Given the description of an element on the screen output the (x, y) to click on. 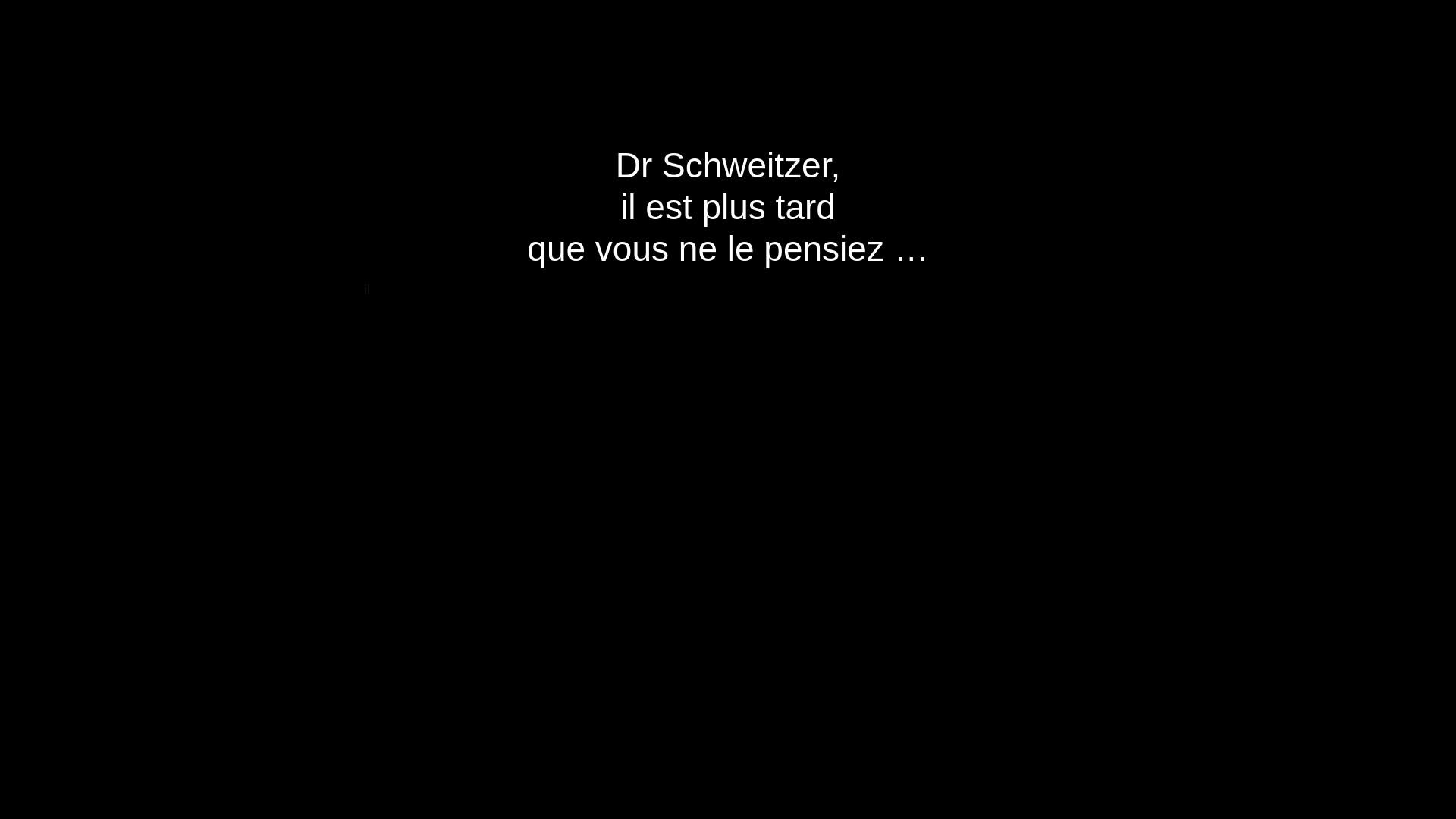
19h.ch Element type: text (421, 51)
